Given the description of an element on the screen output the (x, y) to click on. 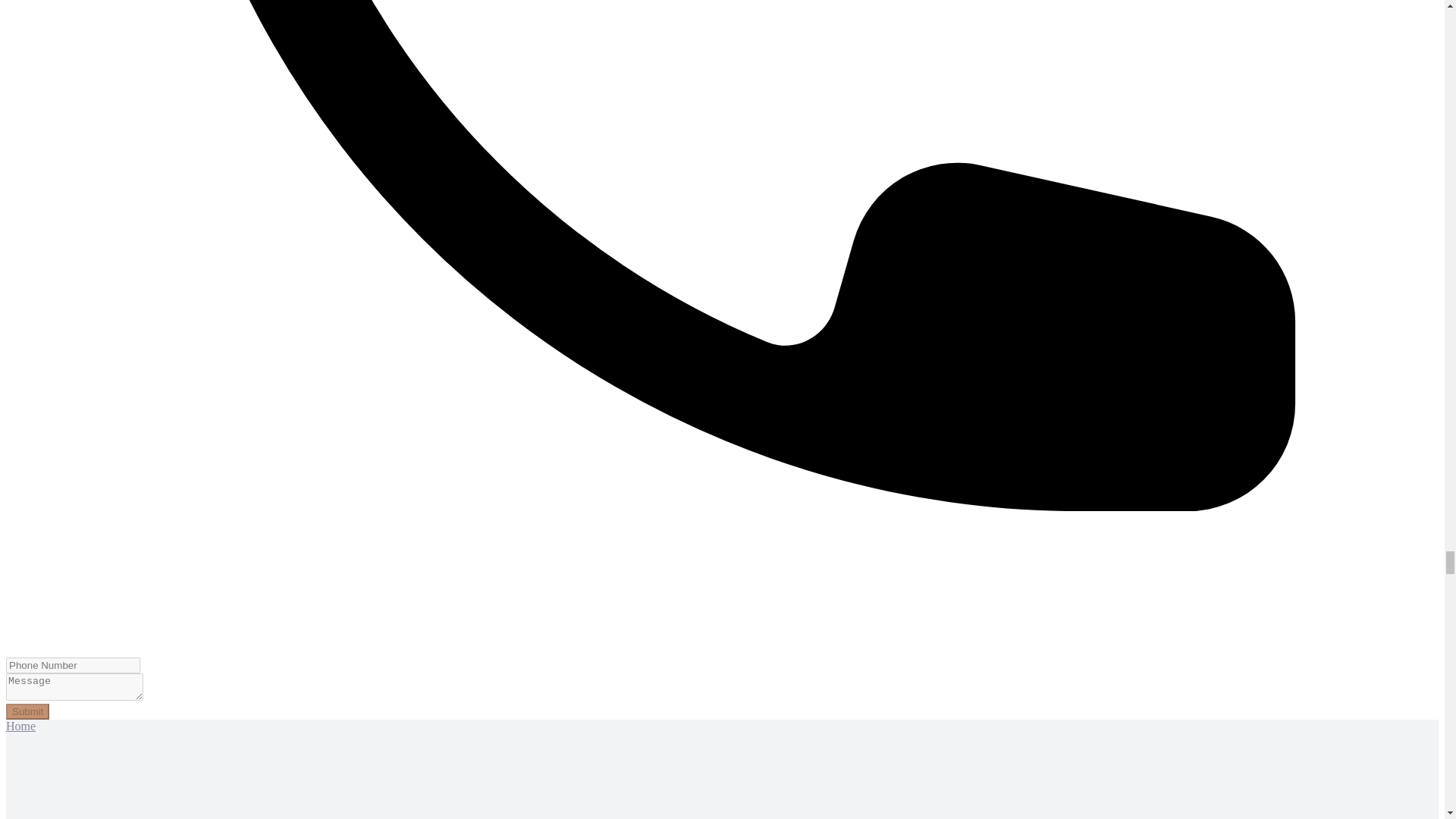
Submit (27, 711)
